Given the description of an element on the screen output the (x, y) to click on. 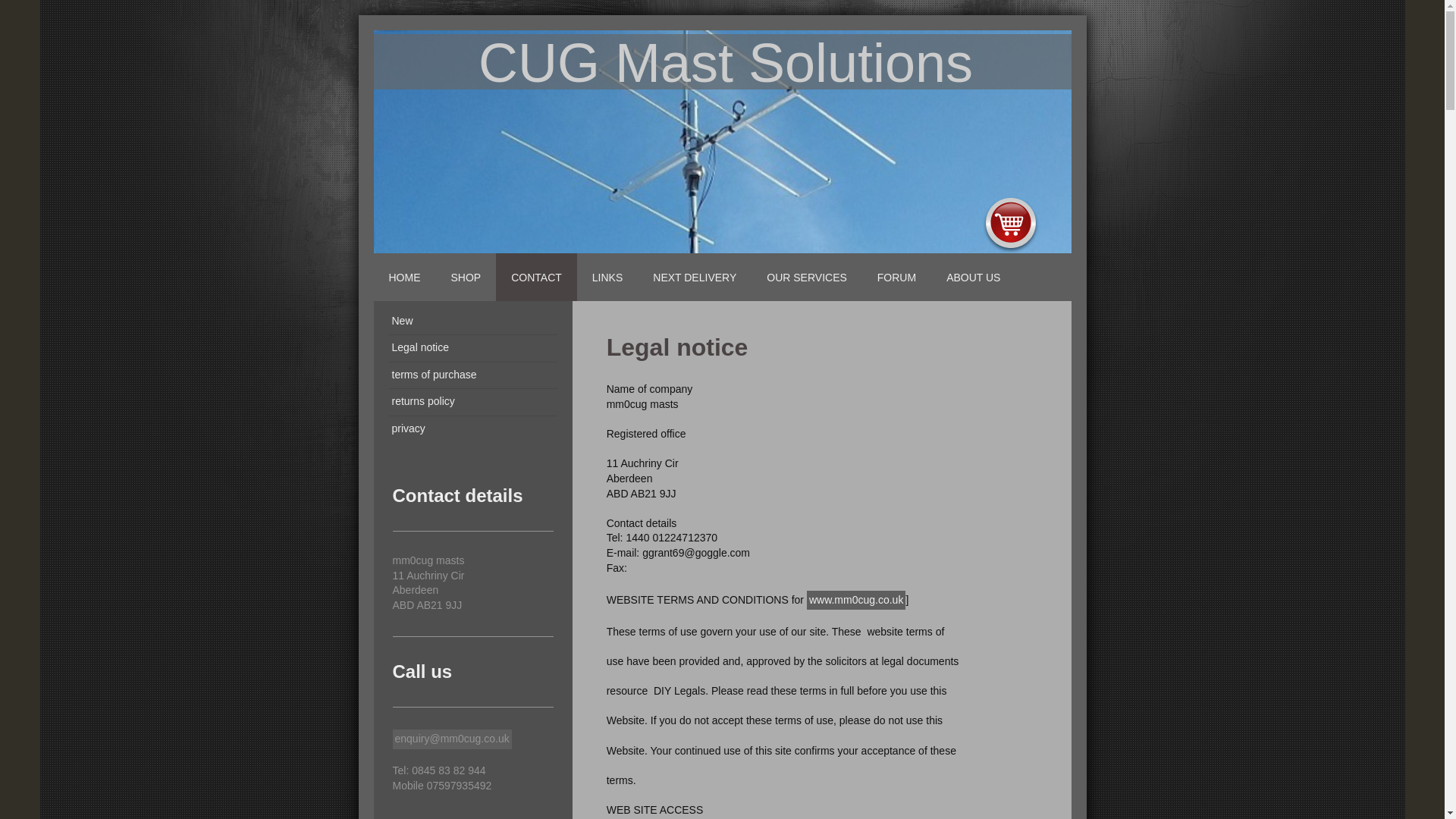
OUR SERVICES (806, 277)
CONTACT (536, 277)
NEXT DELIVERY (694, 277)
FORUM (896, 277)
LINKS (606, 277)
www.mm0cug.co.uk (855, 600)
HOME (403, 277)
SHOP (465, 277)
ABOUT US (972, 277)
